Given the description of an element on the screen output the (x, y) to click on. 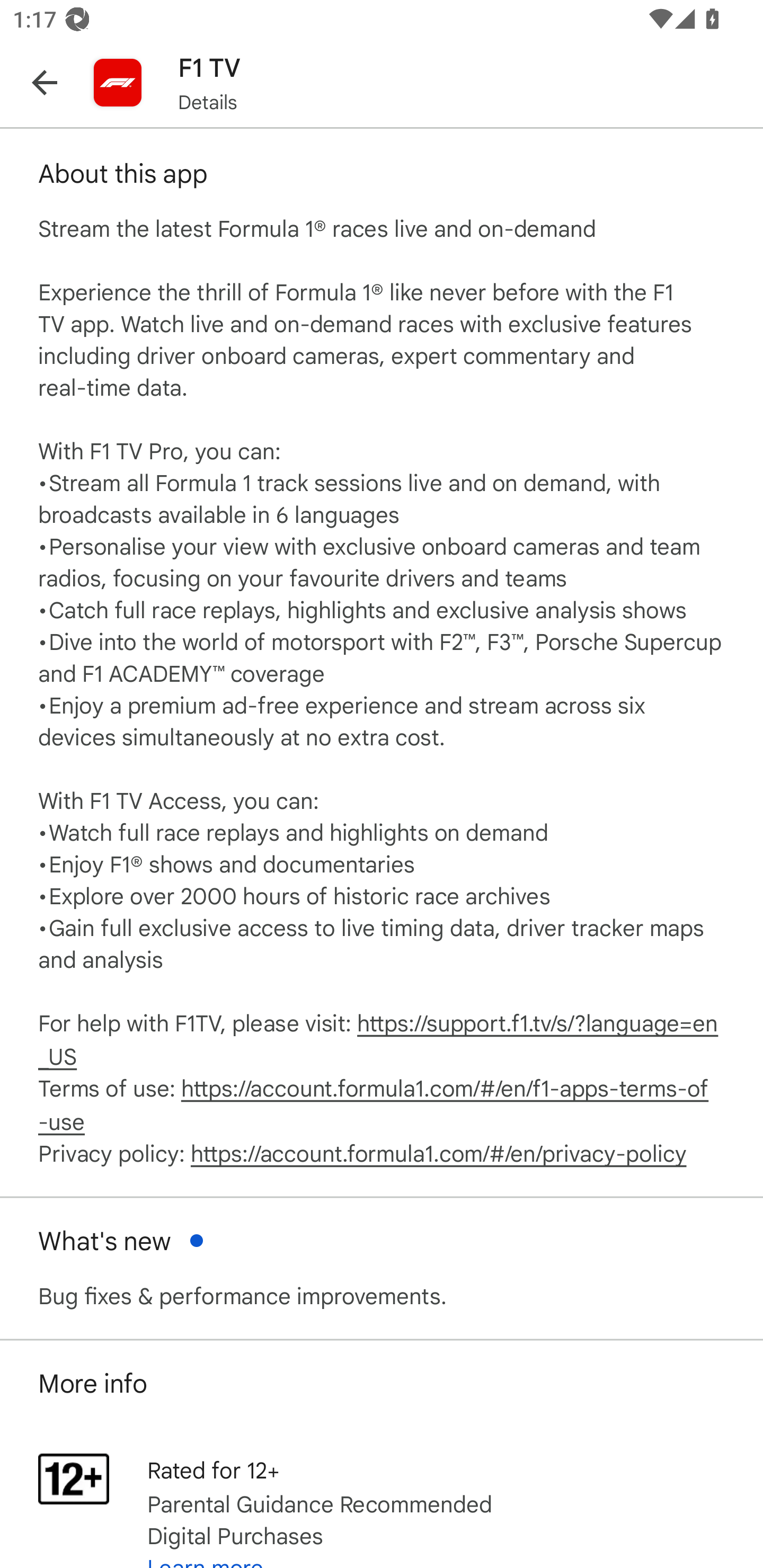
Navigate up (44, 82)
